Given the description of an element on the screen output the (x, y) to click on. 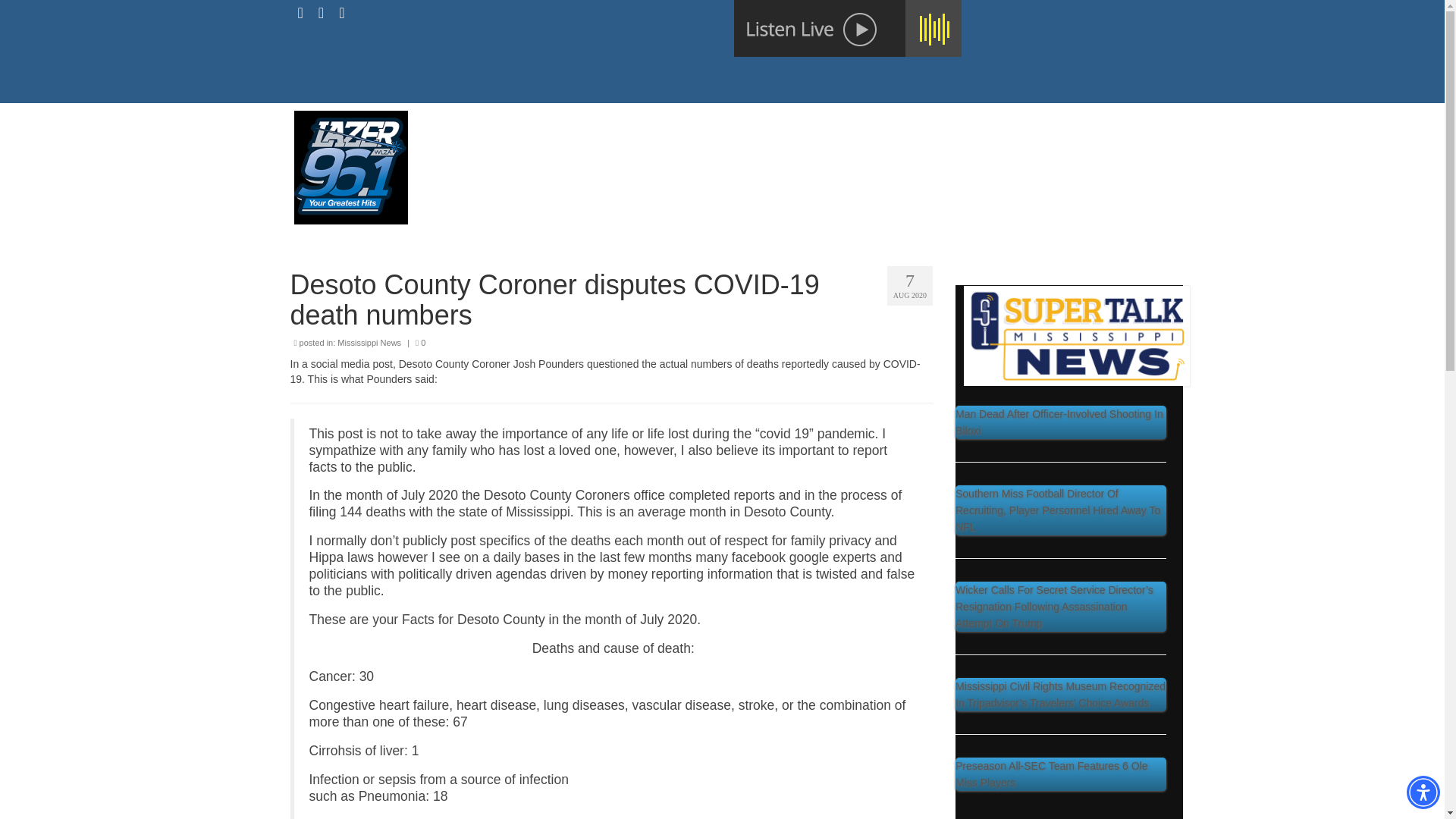
TERMS OF USE (1035, 125)
CAREERS (817, 125)
Man dead after officer-involved shooting in Biloxi (1060, 421)
OUR STATIONS (723, 125)
Preseason All-SEC team features 6 Ole Miss players (1060, 774)
ABOUT US (626, 125)
PRIVACY POLICY (918, 125)
CONTEST RULES (647, 155)
Listen Live (846, 28)
Preseason All-SEC Team Features 6 Ole Miss Players (1051, 774)
Mississippi News (369, 342)
Man Dead After Officer-Involved Shooting In Biloxi (1059, 421)
Accessibility Menu (1422, 792)
